Given the description of an element on the screen output the (x, y) to click on. 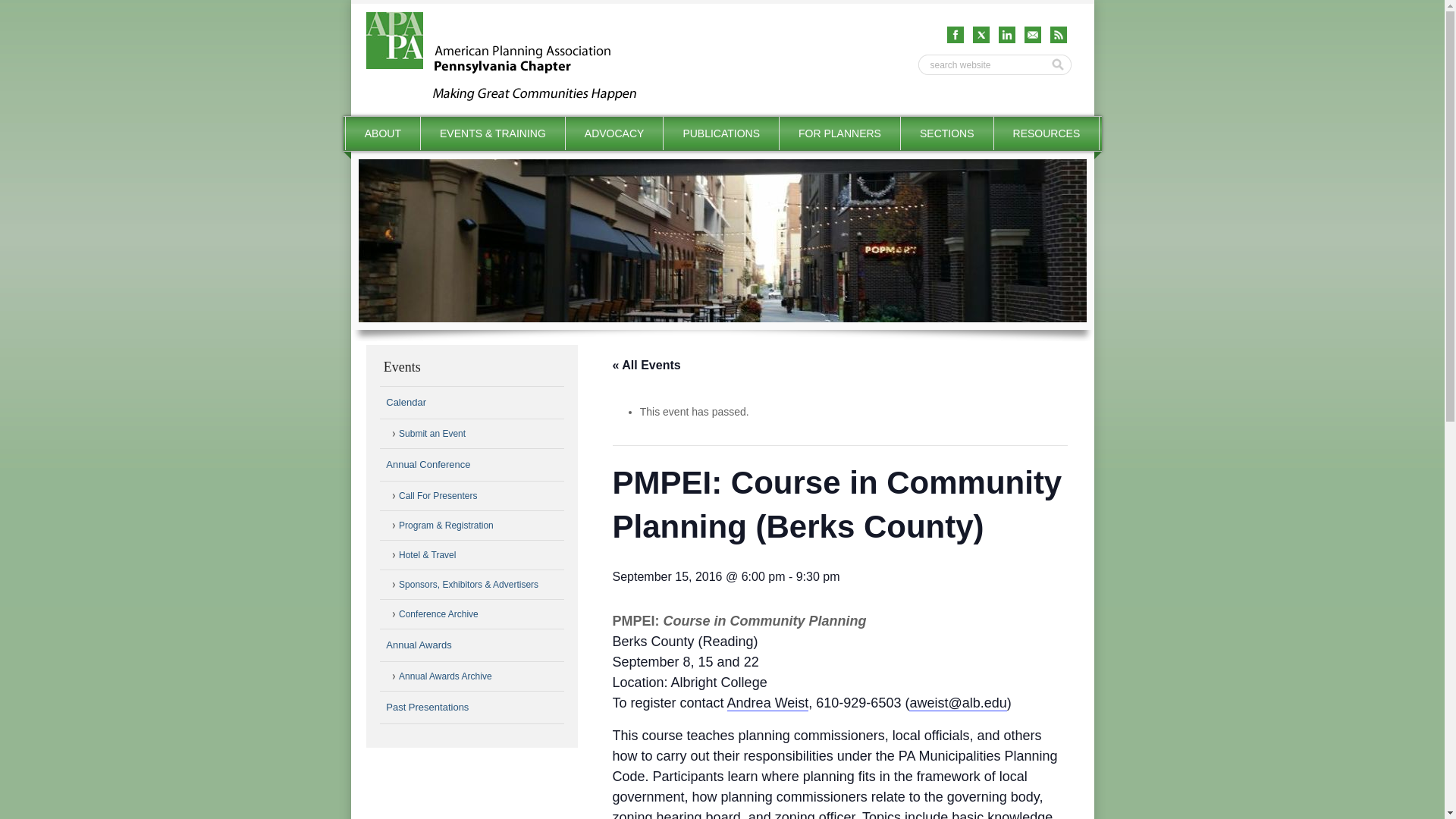
FOR PLANNERS (838, 133)
Submit (1058, 64)
ABOUT (383, 133)
search website (982, 65)
Skip to content (377, 124)
ADVOCACY (614, 133)
PUBLICATIONS (720, 133)
Skip to content (377, 124)
